Given the description of an element on the screen output the (x, y) to click on. 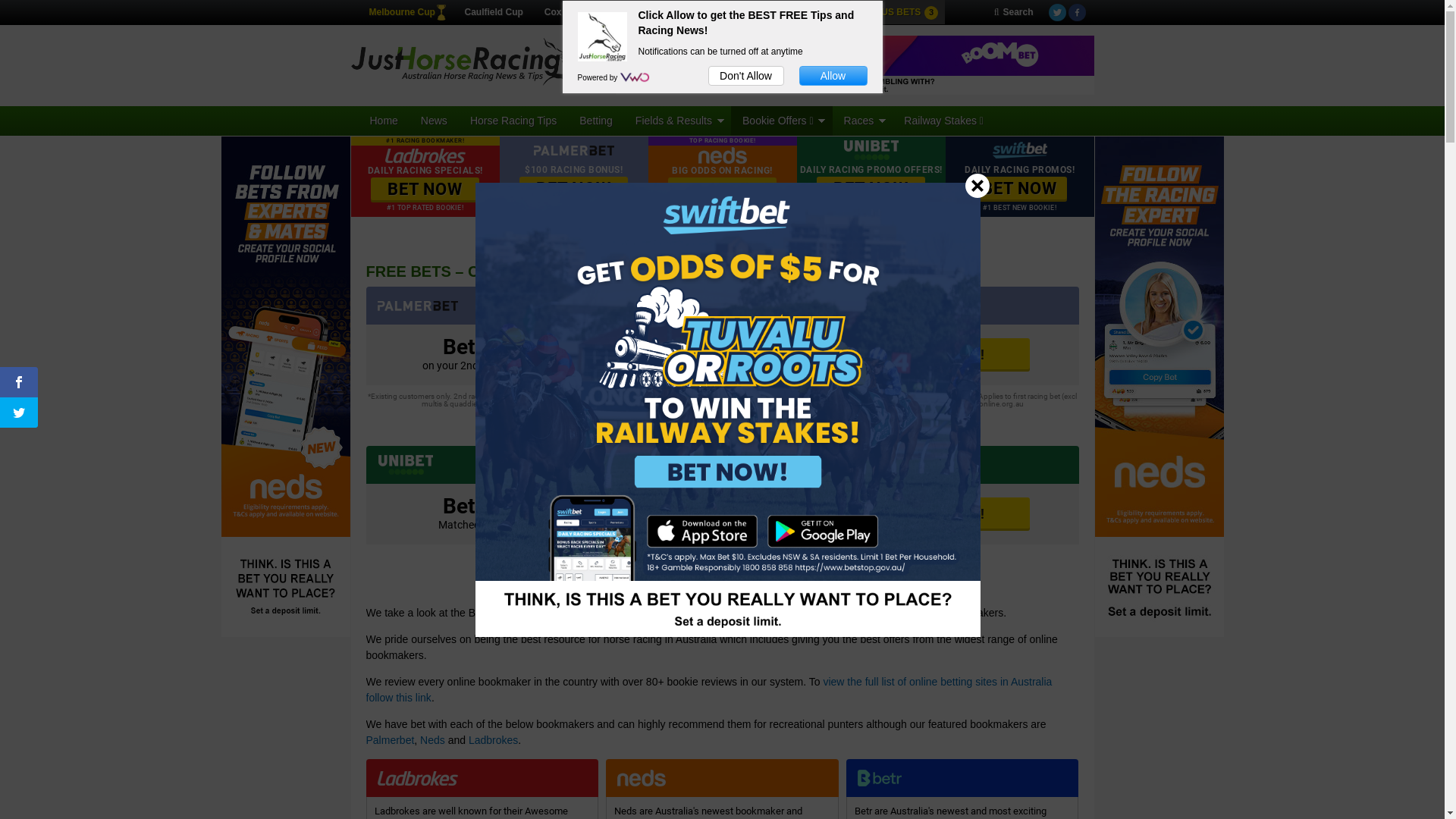
BET NOW Element type: text (722, 189)
Bet Now! Element type: text (956, 354)
BET NOW Element type: text (424, 189)
Neds Element type: text (432, 740)
Allow Element type: text (833, 75)
BET NOW Element type: text (1019, 188)
Home Element type: text (382, 120)
Boombet Element type: hover (854, 64)
BET NOW Element type: text (870, 188)
Palmerbet Element type: text (389, 740)
Close Element type: hover (977, 184)
Ladbrokes Element type: text (492, 740)
News Element type: text (433, 120)
Powered by Element type: text (598, 77)
Horse Racing Tips Element type: text (512, 120)
Races Element type: text (862, 120)
Betting Element type: text (595, 120)
Fields & Results Element type: text (677, 120)
Bet Now! Element type: text (956, 513)
Don't Allow Element type: text (746, 75)
BET NOW Element type: text (573, 188)
